Given the description of an element on the screen output the (x, y) to click on. 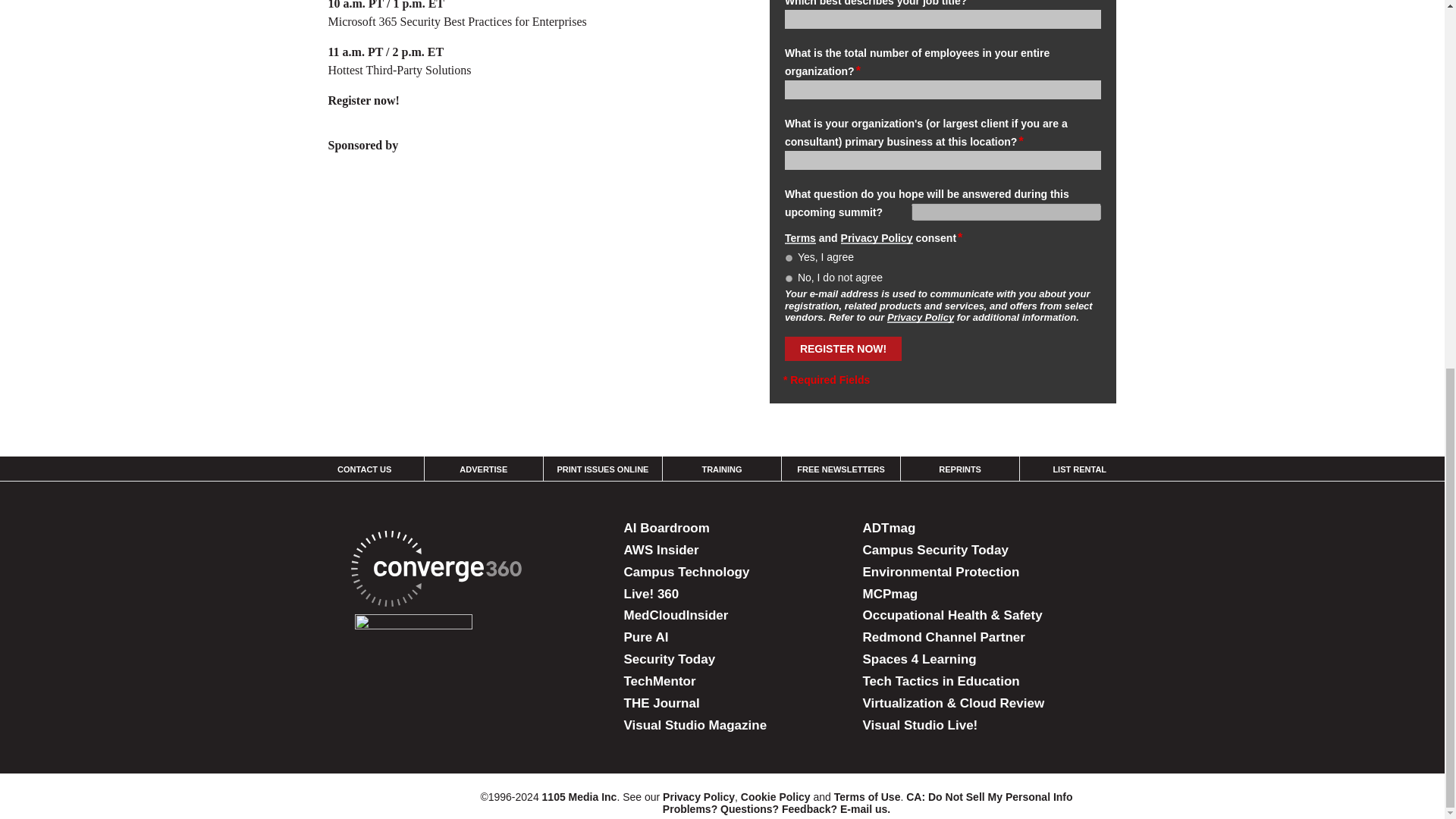
CONTACT US (364, 469)
ADVERTISE (483, 469)
AI Boardroom (666, 527)
ADTmag (889, 527)
PRINT ISSUES ONLINE (601, 469)
FREE NEWSLETTERS (840, 469)
Register Now! (842, 348)
Register Now! (842, 348)
Privacy Policy (876, 237)
Terms (799, 237)
